Given the description of an element on the screen output the (x, y) to click on. 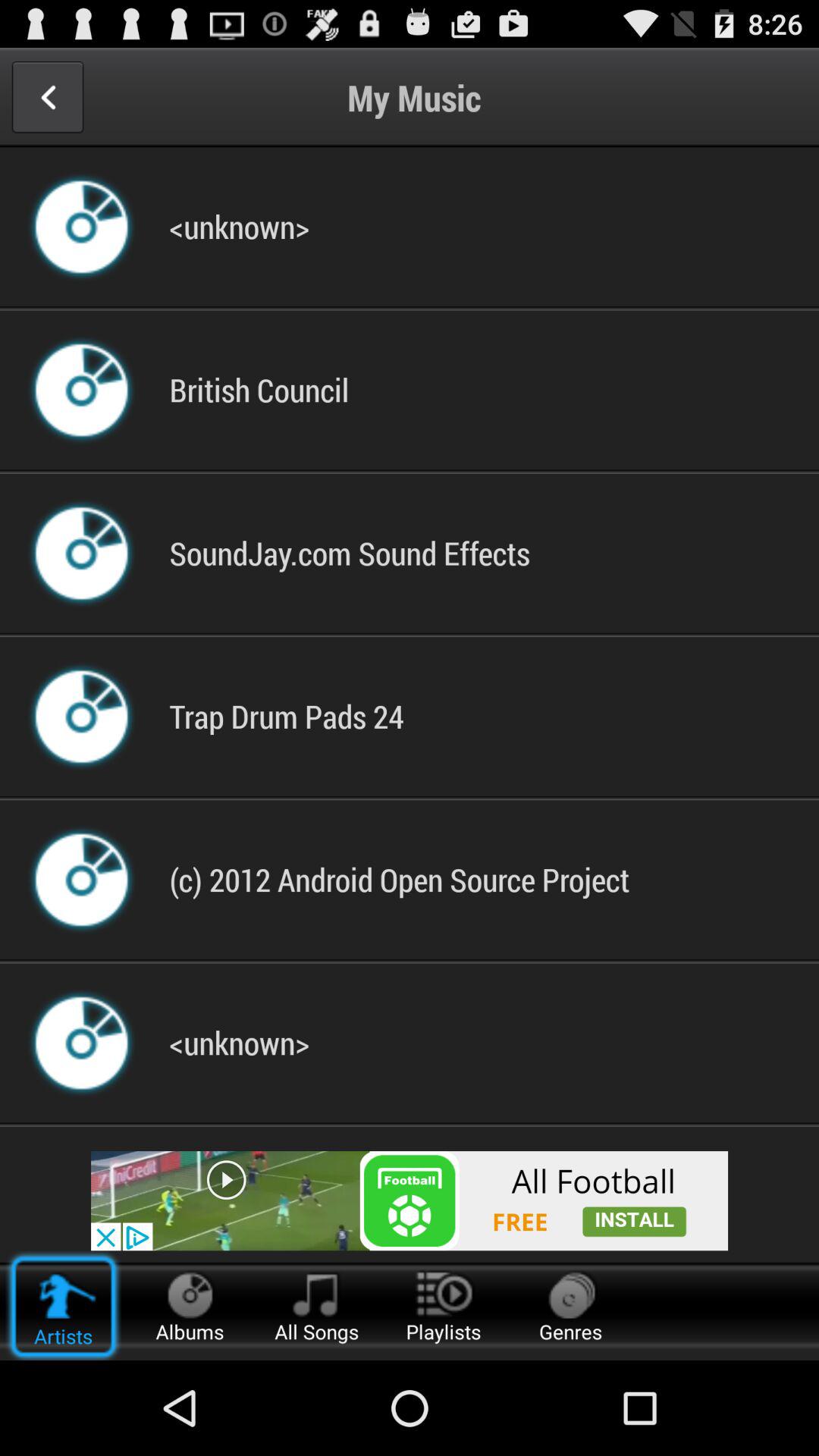
go back button (47, 97)
